Given the description of an element on the screen output the (x, y) to click on. 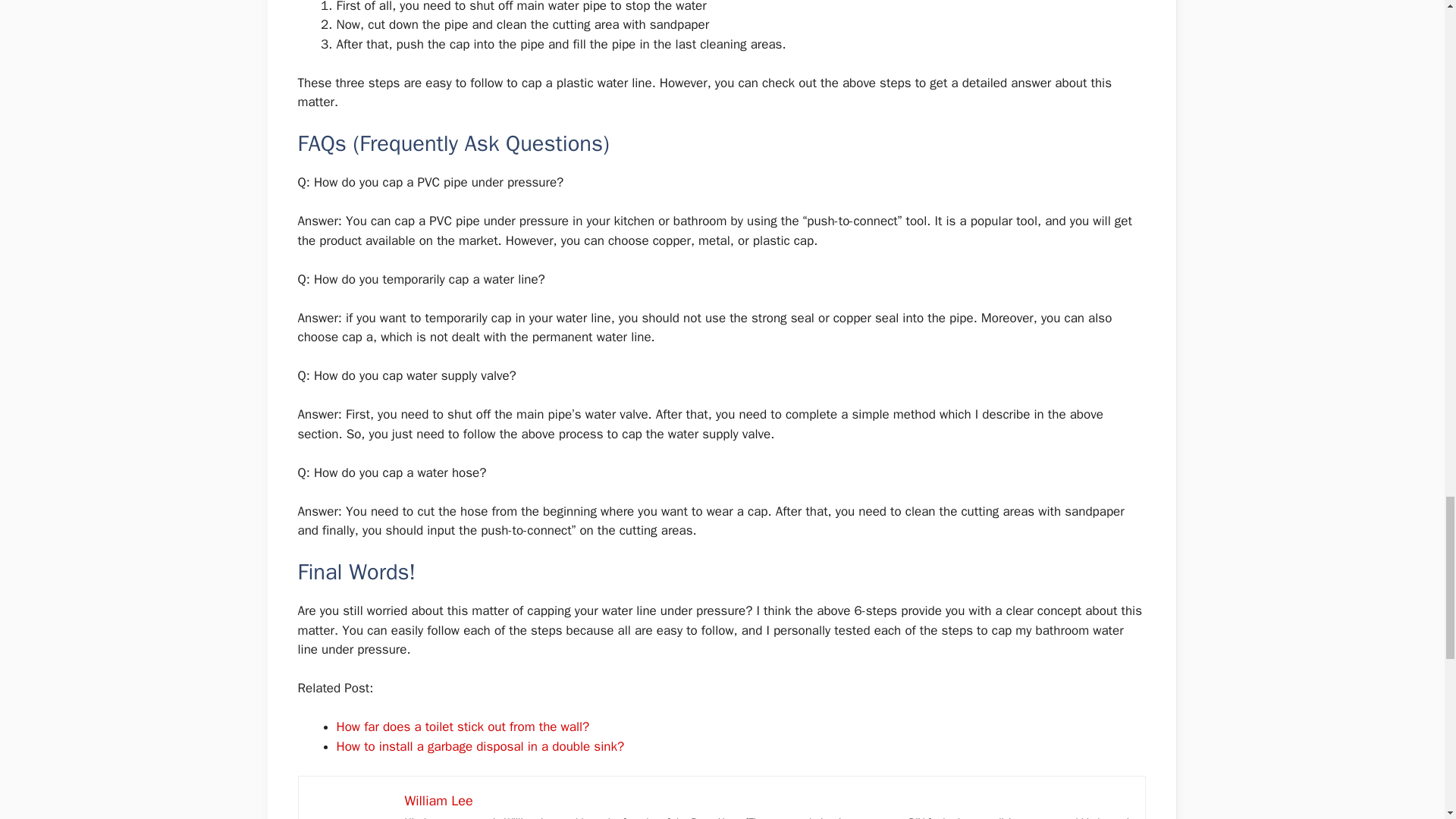
William Lee (438, 800)
How to install a garbage disposal in a double sink? (480, 746)
How far does a toilet stick out from the wall? (462, 726)
